Given the description of an element on the screen output the (x, y) to click on. 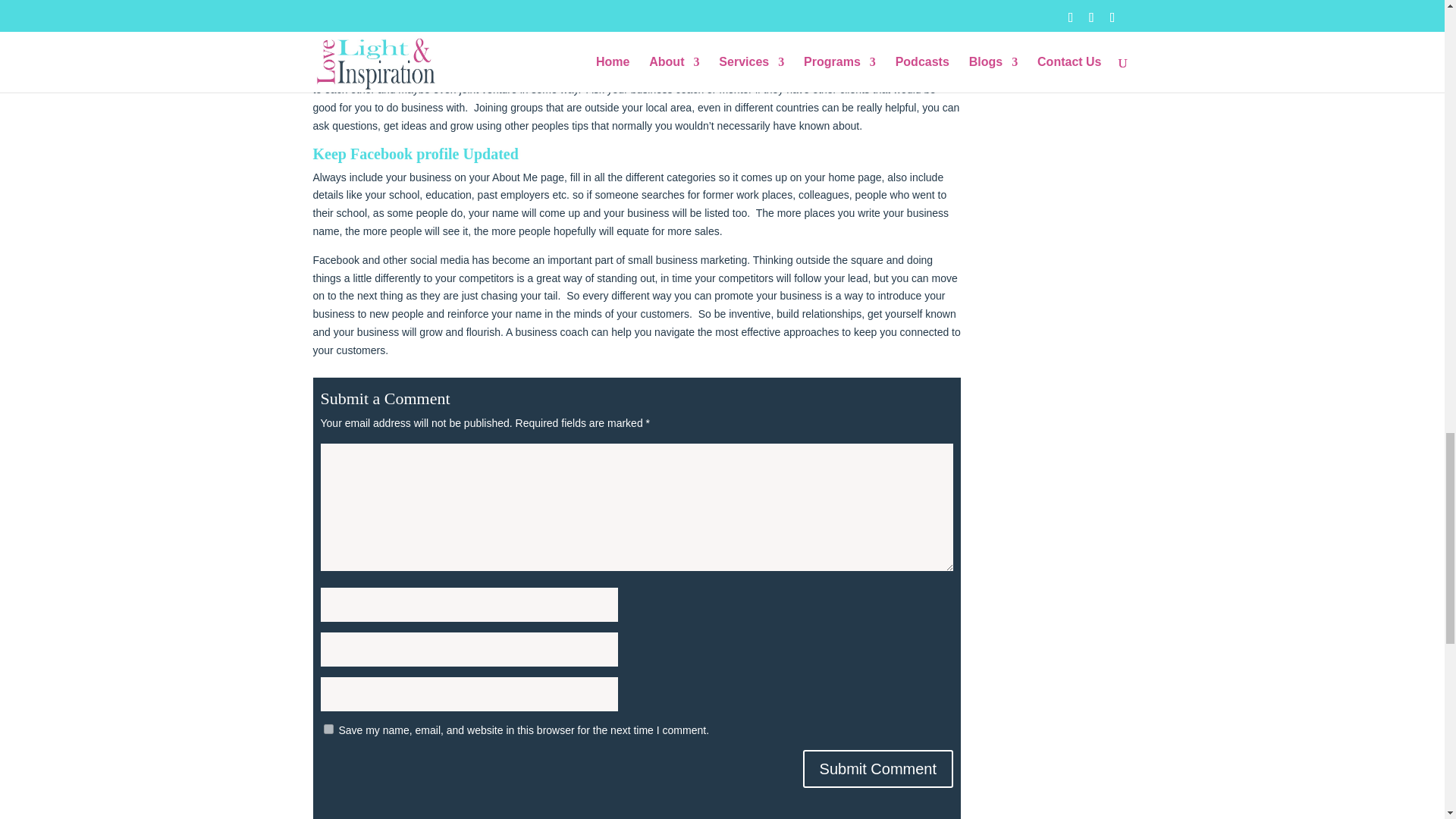
yes (328, 728)
